Given the description of an element on the screen output the (x, y) to click on. 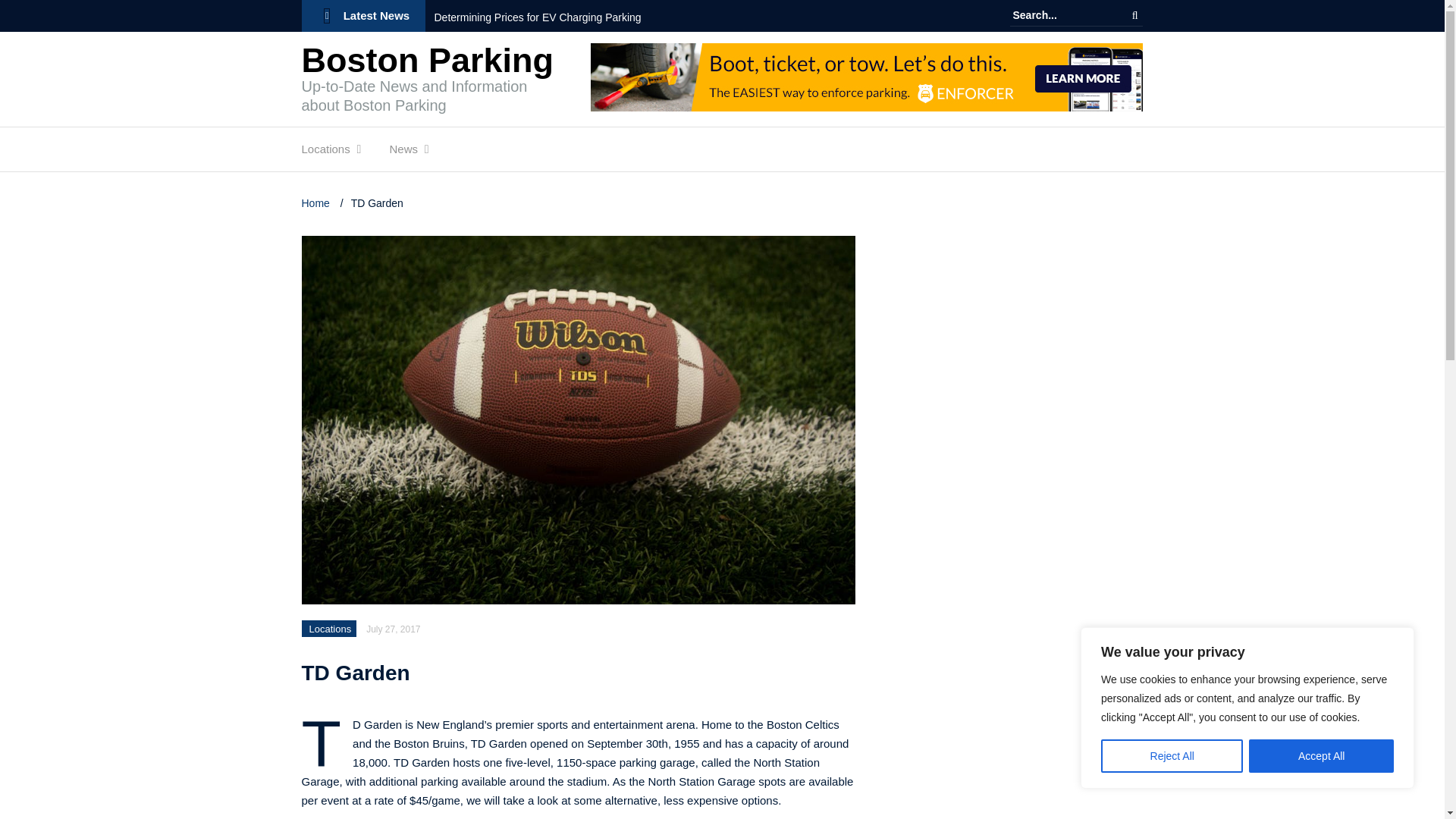
Reject All (1171, 756)
Determining Prices for EV Charging Parking (536, 17)
Search   (1134, 14)
Boston Parking (427, 59)
Locations (325, 153)
Accept All (1321, 756)
